Given the description of an element on the screen output the (x, y) to click on. 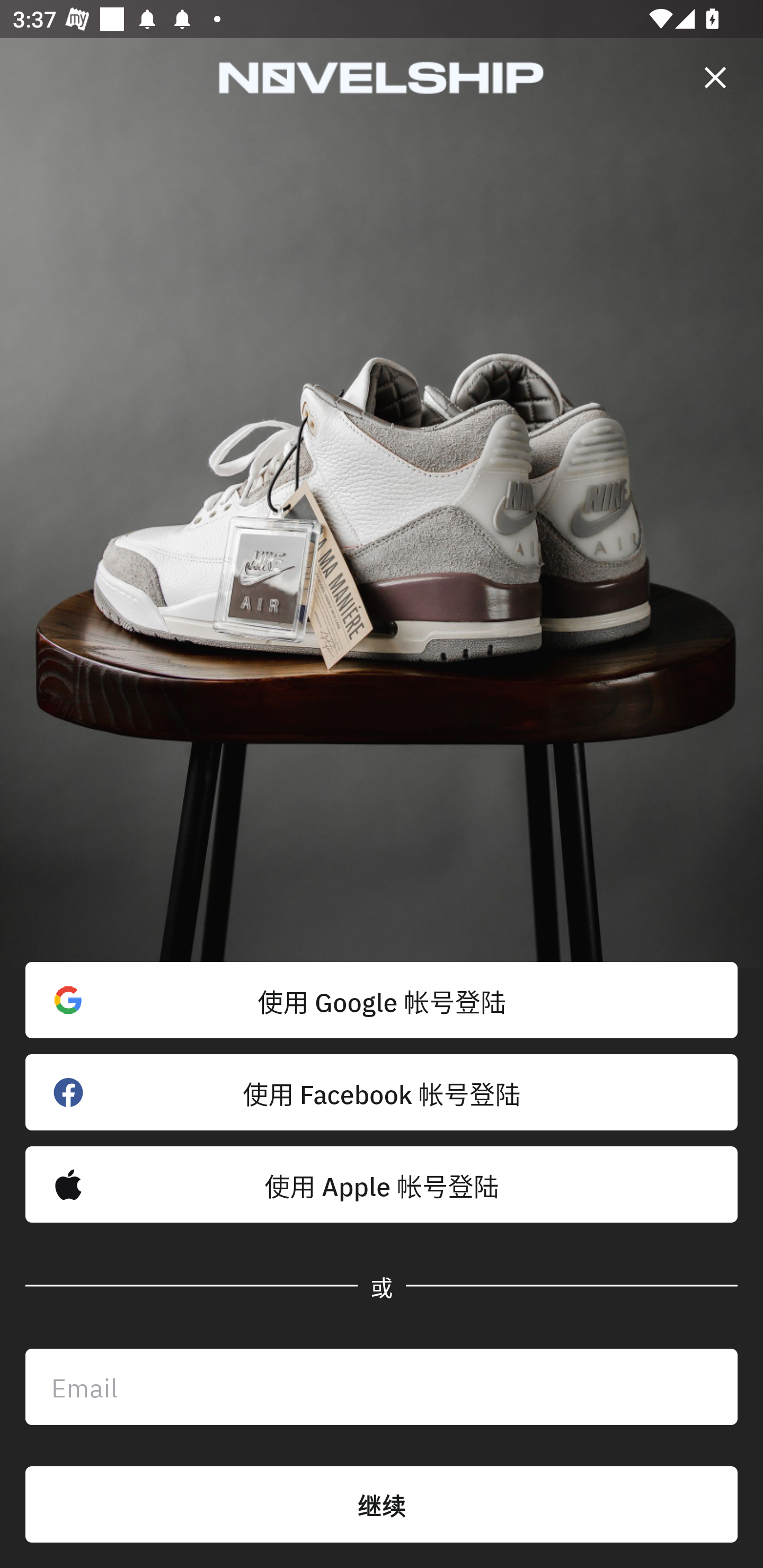
使用 Google 帐号登陆 (381, 1000)
使用 Facebook 帐号登陆 󰈌 (381, 1091)
 使用 Apple 帐号登陆 (381, 1184)
Email (381, 1386)
继续 (381, 1504)
